Given the description of an element on the screen output the (x, y) to click on. 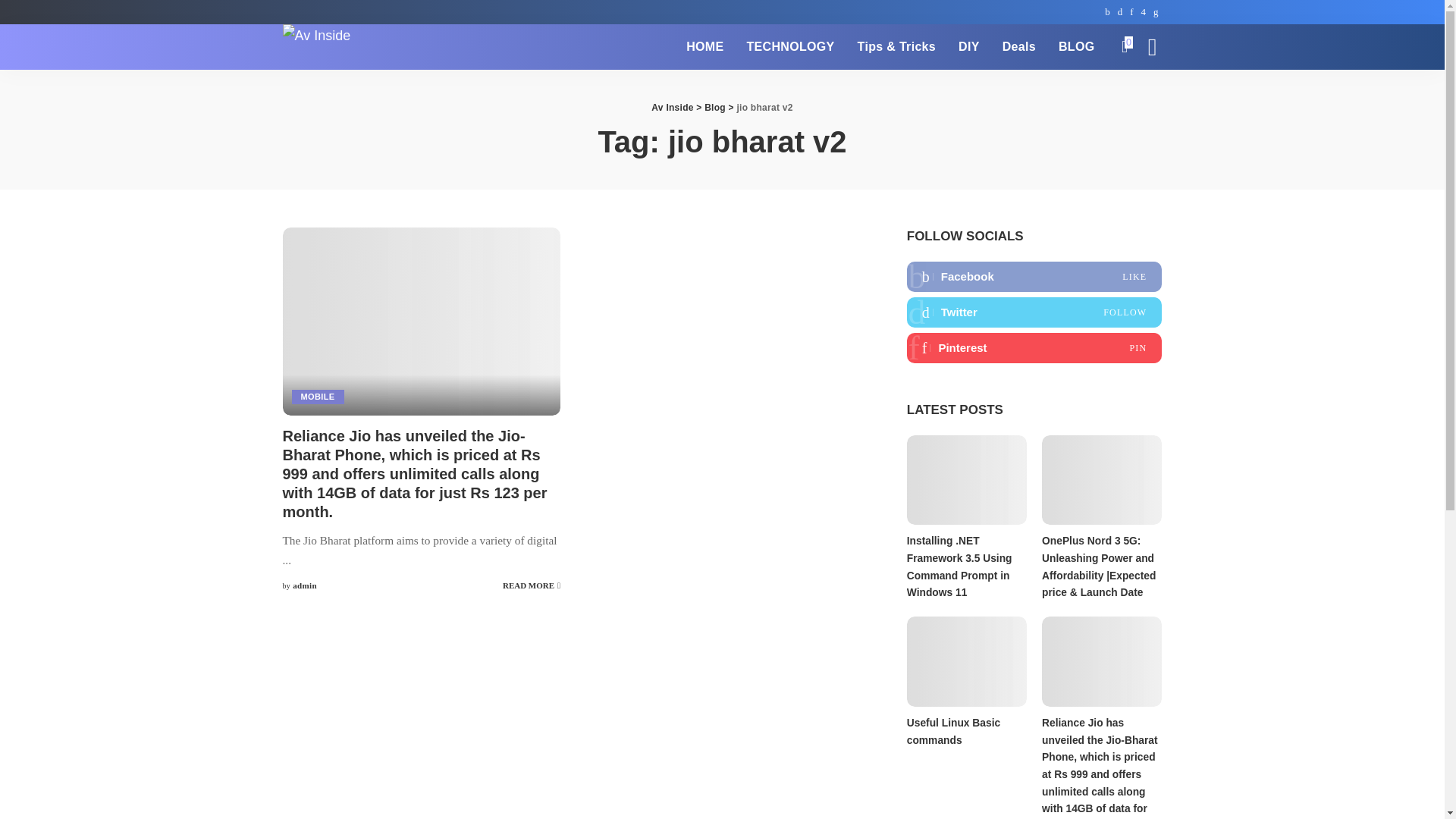
TECHNOLOGY (790, 46)
HOME (705, 46)
Av Inside (316, 46)
